Given the description of an element on the screen output the (x, y) to click on. 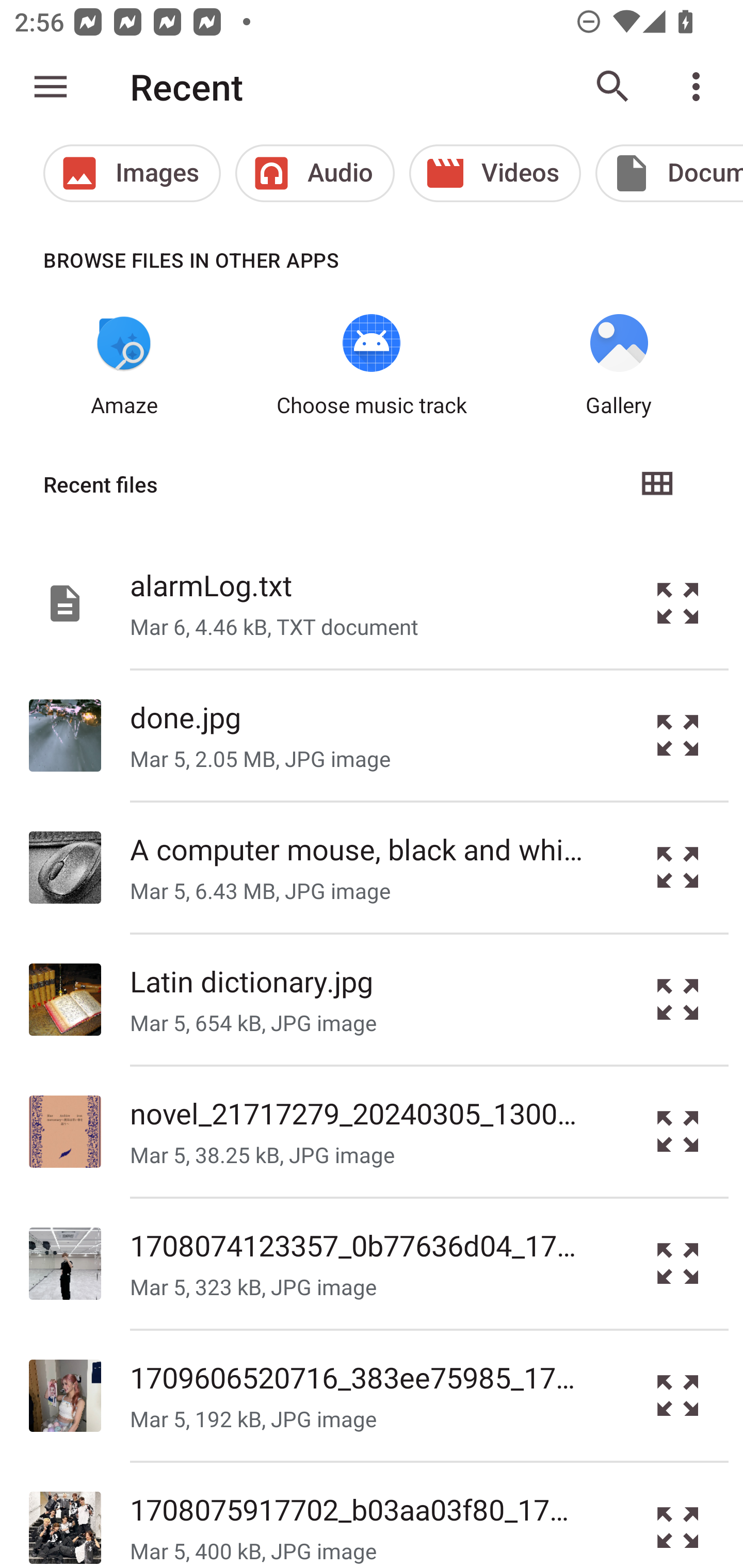
Show roots (50, 86)
Search (612, 86)
More options (699, 86)
Images (131, 173)
Audio (314, 173)
Videos (495, 173)
Documents (669, 173)
Amaze (123, 365)
Choose music track (371, 365)
Gallery (619, 365)
Grid view (655, 484)
Preview the file alarmLog.txt (677, 602)
Preview the file done.jpg (677, 736)
Preview the file Latin dictionary.jpg (677, 999)
